Given the description of an element on the screen output the (x, y) to click on. 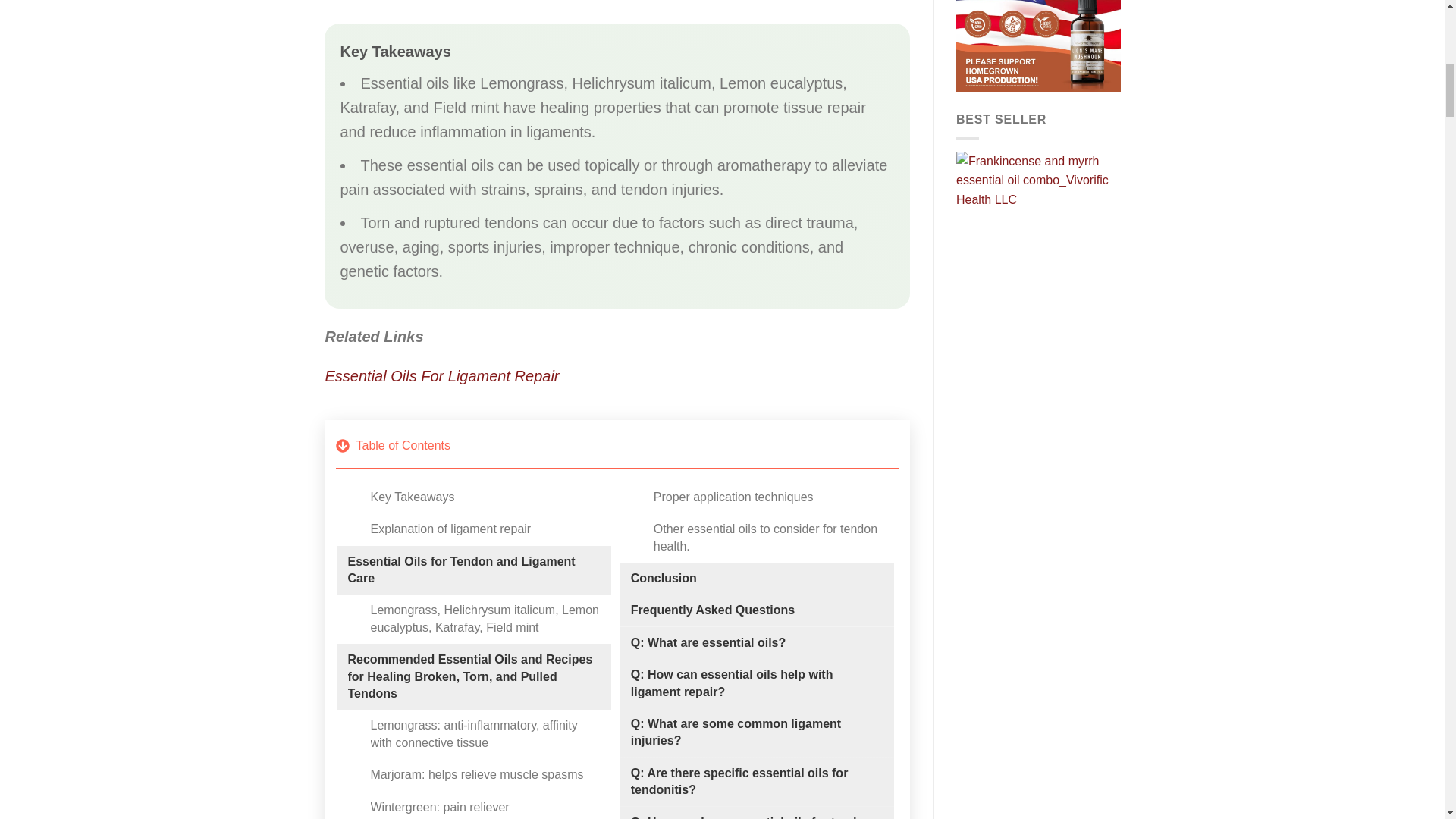
Q: What are essential oils? (708, 642)
Explanation of ligament repair (450, 528)
Proper application techniques (733, 497)
Q: How can I use essential oils for tendon repair? (756, 816)
Conclusion (663, 578)
Essential Oils for Tendon and Ligament Care (472, 570)
Other essential oils to consider for tendon health. (767, 537)
Q: What are some common ligament injuries? (756, 732)
